Given the description of an element on the screen output the (x, y) to click on. 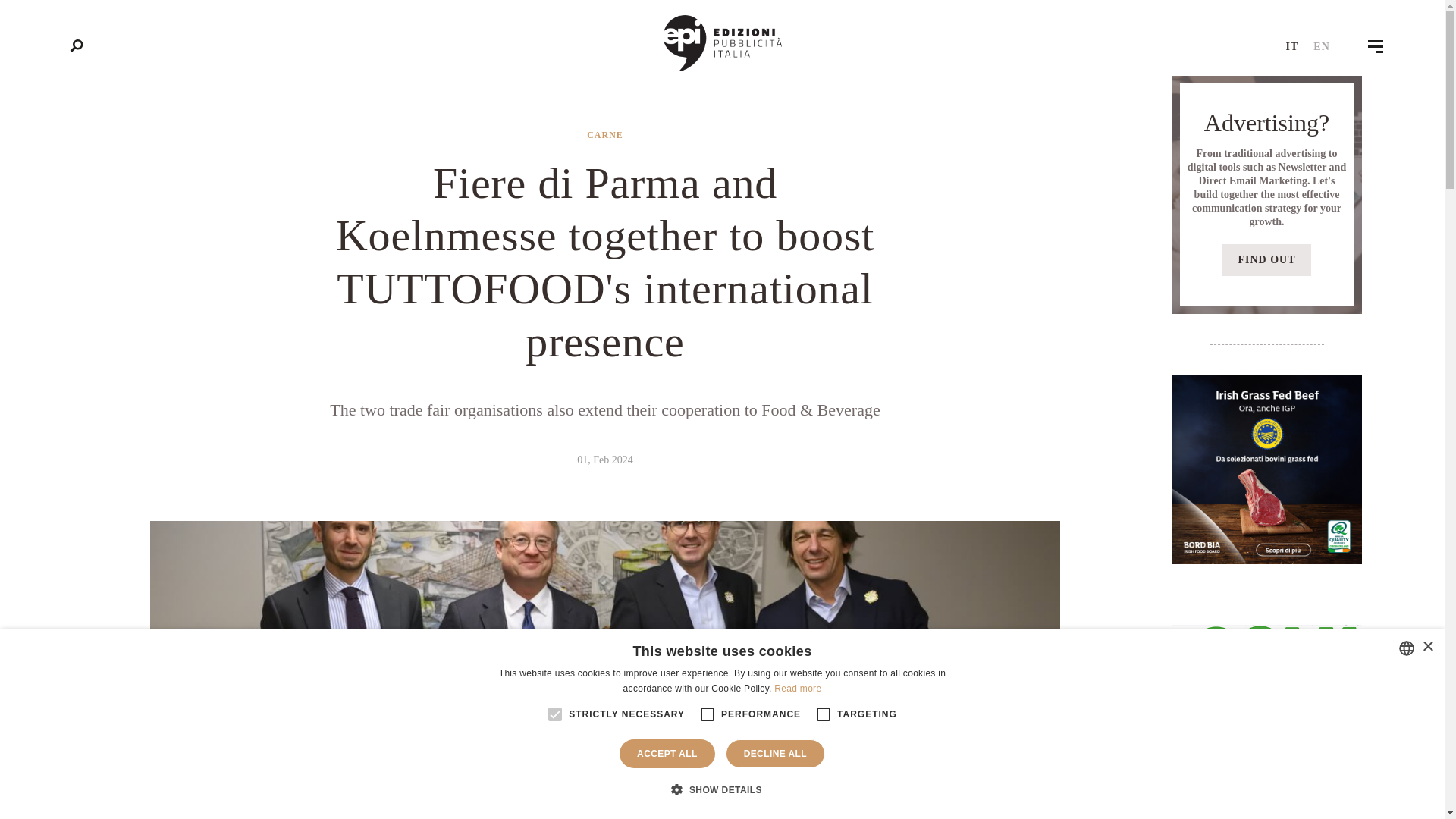
IT (1291, 46)
EN (1321, 46)
